Given the description of an element on the screen output the (x, y) to click on. 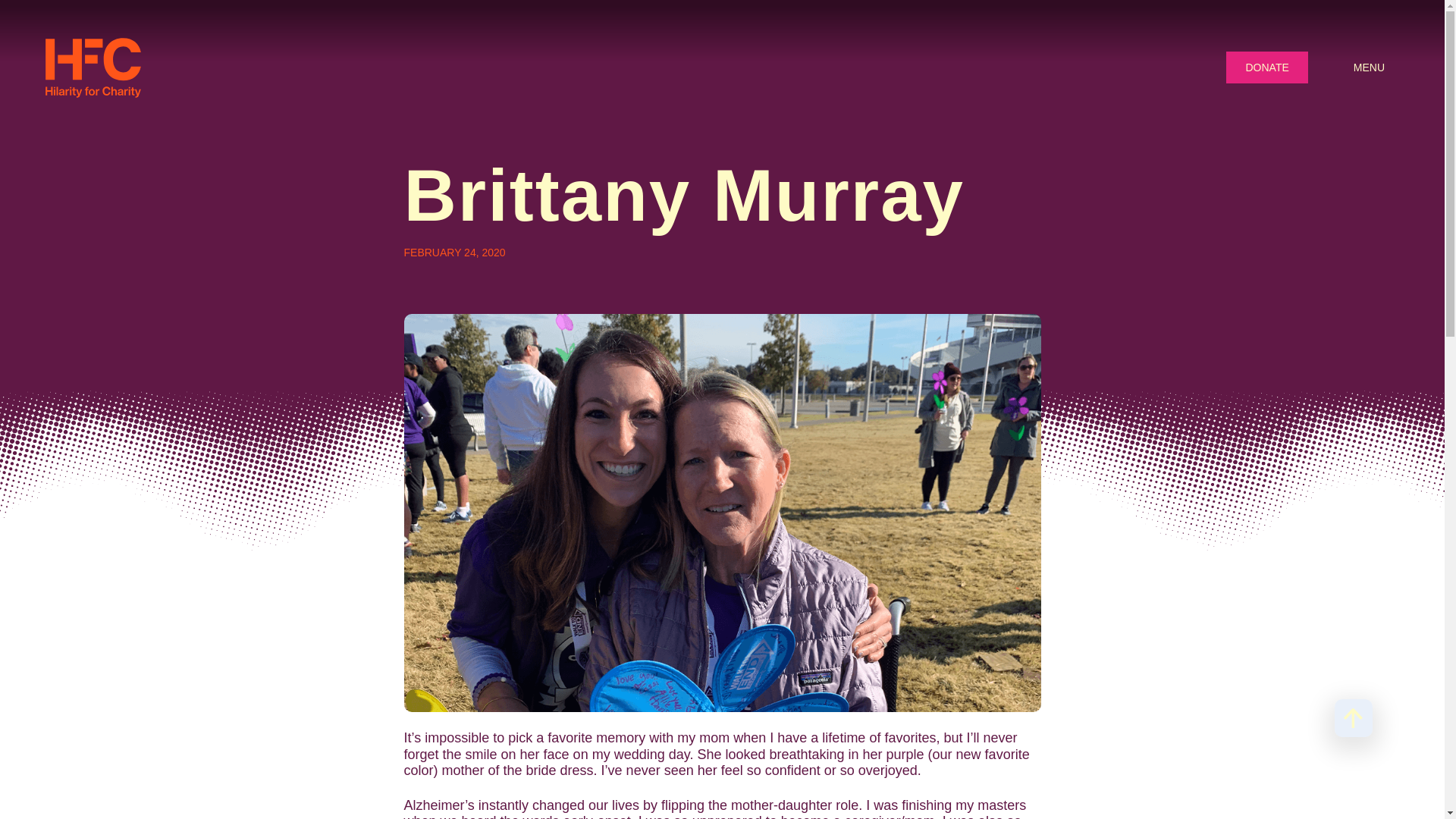
MENU (1369, 67)
DONATE (1266, 67)
